Given the description of an element on the screen output the (x, y) to click on. 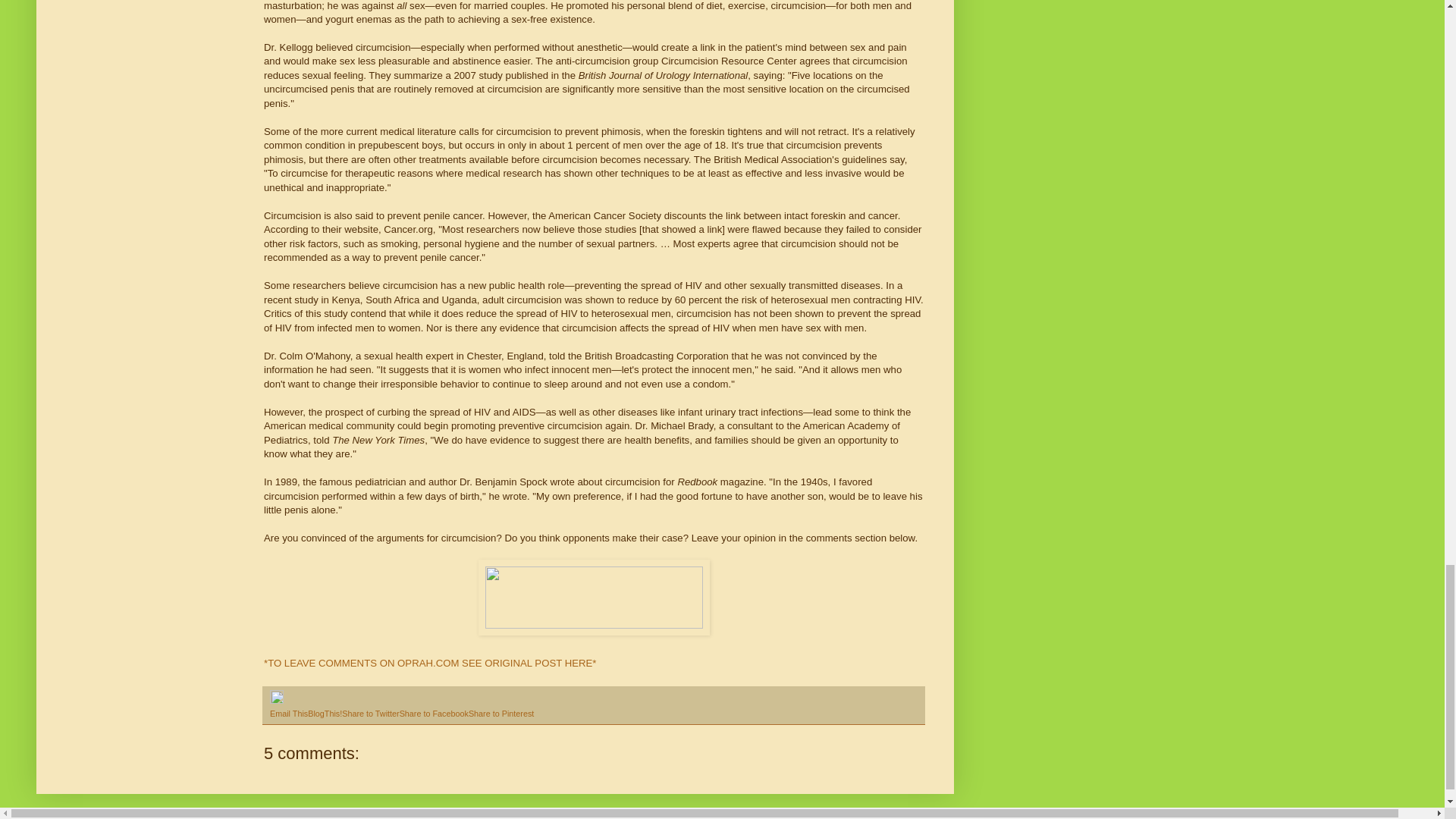
BlogThis! (324, 713)
Share to Facebook (433, 713)
Share to Twitter (370, 713)
Share to Pinterest (501, 713)
Share to Twitter (370, 713)
BlogThis! (324, 713)
Share to Facebook (433, 713)
Email This (288, 713)
Email This (288, 713)
Share to Pinterest (501, 713)
